Given the description of an element on the screen output the (x, y) to click on. 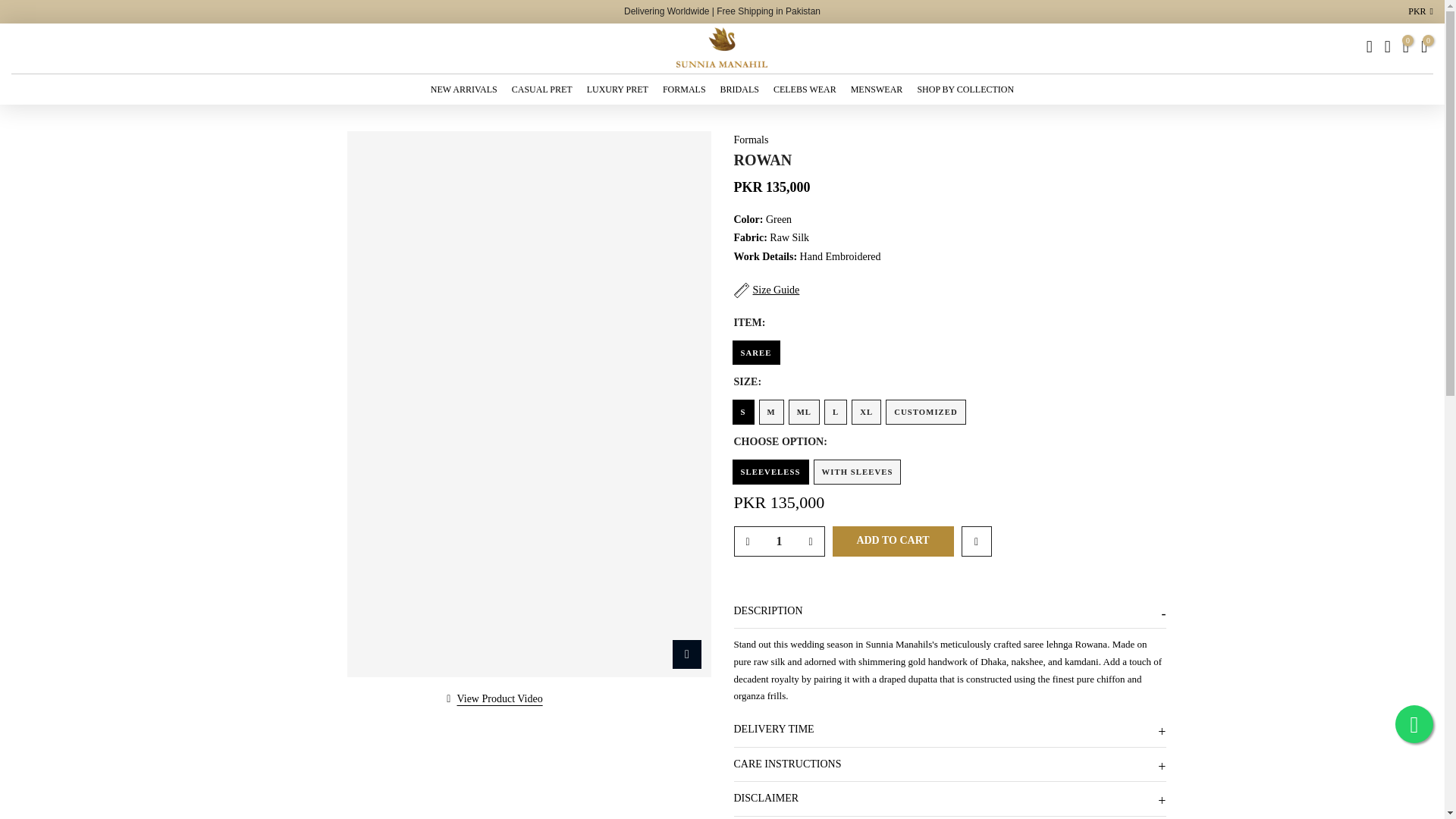
SHOP BY COLLECTION (966, 89)
NEW ARRIVALS (463, 89)
FORMALS (684, 89)
CASUAL PRET (541, 89)
LUXURY PRET (617, 89)
CELEBS WEAR (804, 89)
MENSWEAR (876, 89)
1 (778, 541)
0 (1405, 47)
BRIDALS (739, 89)
